Given the description of an element on the screen output the (x, y) to click on. 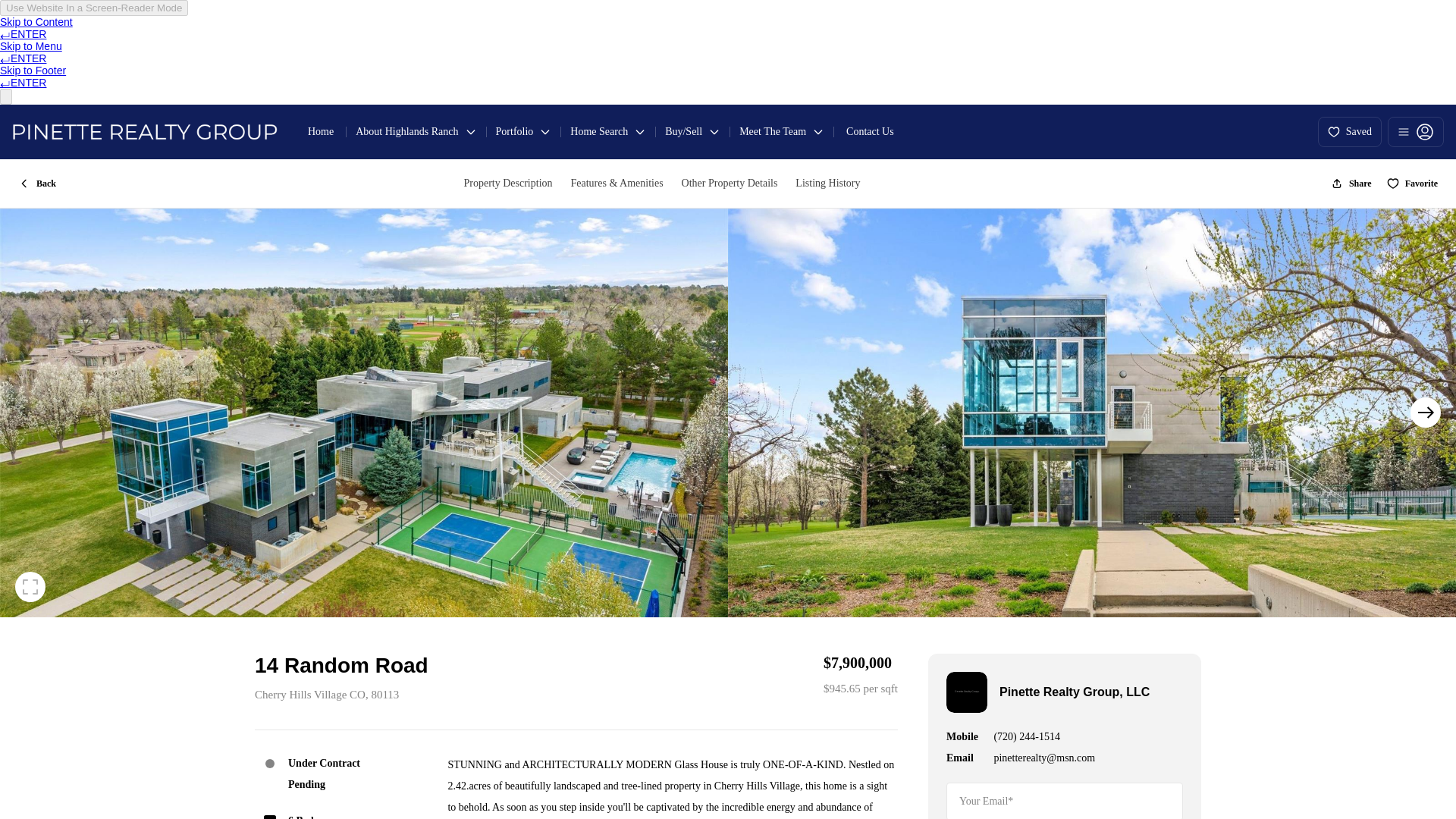
Home (320, 131)
Share (1350, 183)
Go to: Homepage (144, 131)
Contact Us (869, 131)
Property Description (507, 183)
About Highlands Ranch (415, 131)
Favorite (1412, 183)
Back (36, 183)
Listing History (827, 183)
Home Search (607, 131)
Other Property Details (729, 183)
Saved (1349, 132)
Meet The Team (781, 131)
Portfolio (523, 131)
